Given the description of an element on the screen output the (x, y) to click on. 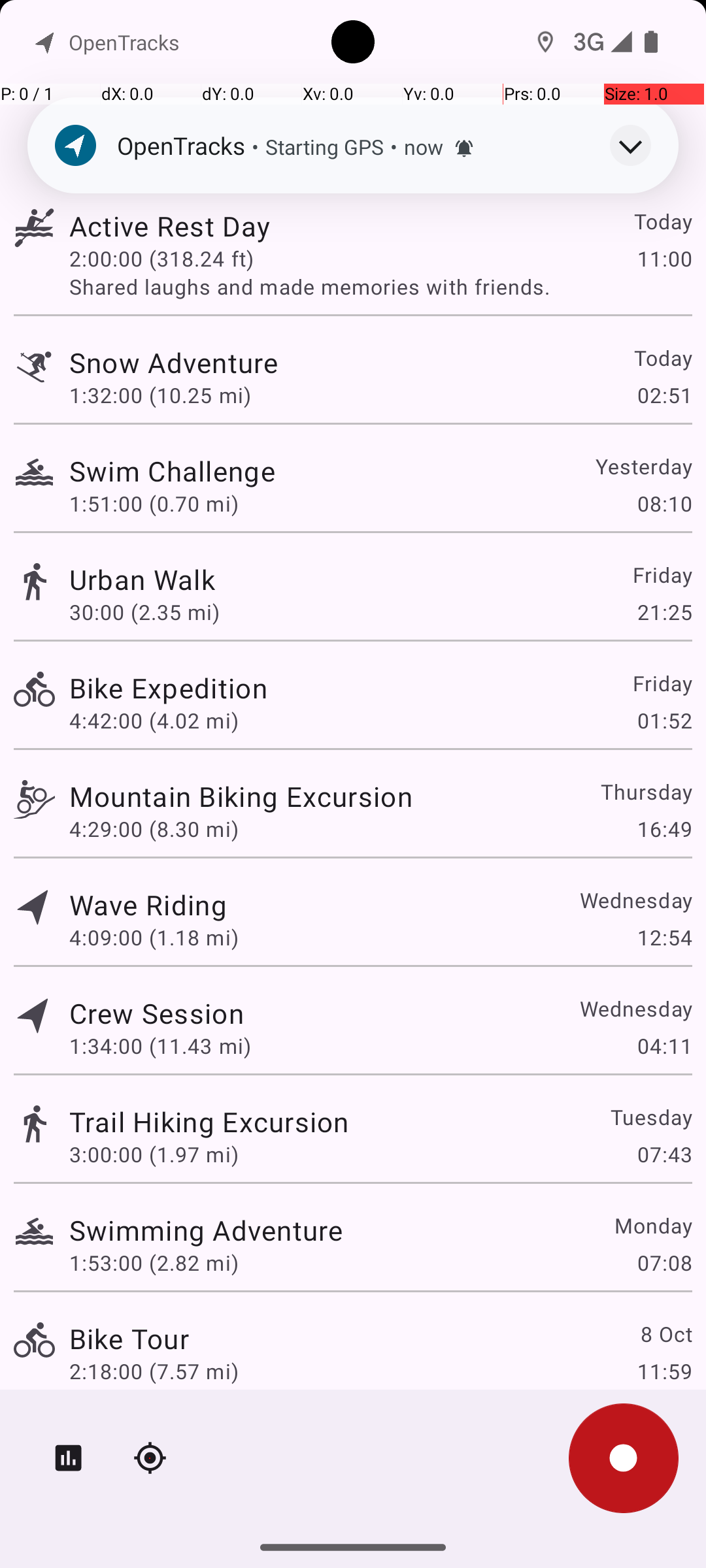
Active Rest Day Element type: android.widget.TextView (169, 225)
2:00:00 (318.24 ft) Element type: android.widget.TextView (161, 258)
Shared laughs and made memories with friends. Element type: android.widget.TextView (380, 286)
Snow Adventure Element type: android.widget.TextView (173, 361)
1:32:00 (10.25 mi) Element type: android.widget.TextView (159, 394)
02:51 Element type: android.widget.TextView (664, 394)
Swim Challenge Element type: android.widget.TextView (171, 470)
1:51:00 (0.70 mi) Element type: android.widget.TextView (153, 503)
08:10 Element type: android.widget.TextView (664, 503)
Urban Walk Element type: android.widget.TextView (141, 578)
30:00 (2.35 mi) Element type: android.widget.TextView (144, 611)
21:25 Element type: android.widget.TextView (664, 611)
Bike Expedition Element type: android.widget.TextView (168, 687)
4:42:00 (4.02 mi) Element type: android.widget.TextView (153, 720)
01:52 Element type: android.widget.TextView (664, 720)
Mountain Biking Excursion Element type: android.widget.TextView (240, 795)
4:29:00 (8.30 mi) Element type: android.widget.TextView (153, 828)
16:49 Element type: android.widget.TextView (664, 828)
Wave Riding Element type: android.widget.TextView (147, 904)
4:09:00 (1.18 mi) Element type: android.widget.TextView (153, 937)
12:54 Element type: android.widget.TextView (664, 937)
Crew Session Element type: android.widget.TextView (156, 1012)
1:34:00 (11.43 mi) Element type: android.widget.TextView (159, 1045)
04:11 Element type: android.widget.TextView (664, 1045)
Trail Hiking Excursion Element type: android.widget.TextView (208, 1121)
3:00:00 (1.97 mi) Element type: android.widget.TextView (153, 1154)
07:43 Element type: android.widget.TextView (664, 1154)
Swimming Adventure Element type: android.widget.TextView (205, 1229)
1:53:00 (2.82 mi) Element type: android.widget.TextView (153, 1262)
07:08 Element type: android.widget.TextView (664, 1262)
Bike Tour Element type: android.widget.TextView (128, 1337)
2:18:00 (7.57 mi) Element type: android.widget.TextView (153, 1370)
11:59 Element type: android.widget.TextView (664, 1370)
Starting GPS Element type: android.widget.TextView (324, 146)
